Given the description of an element on the screen output the (x, y) to click on. 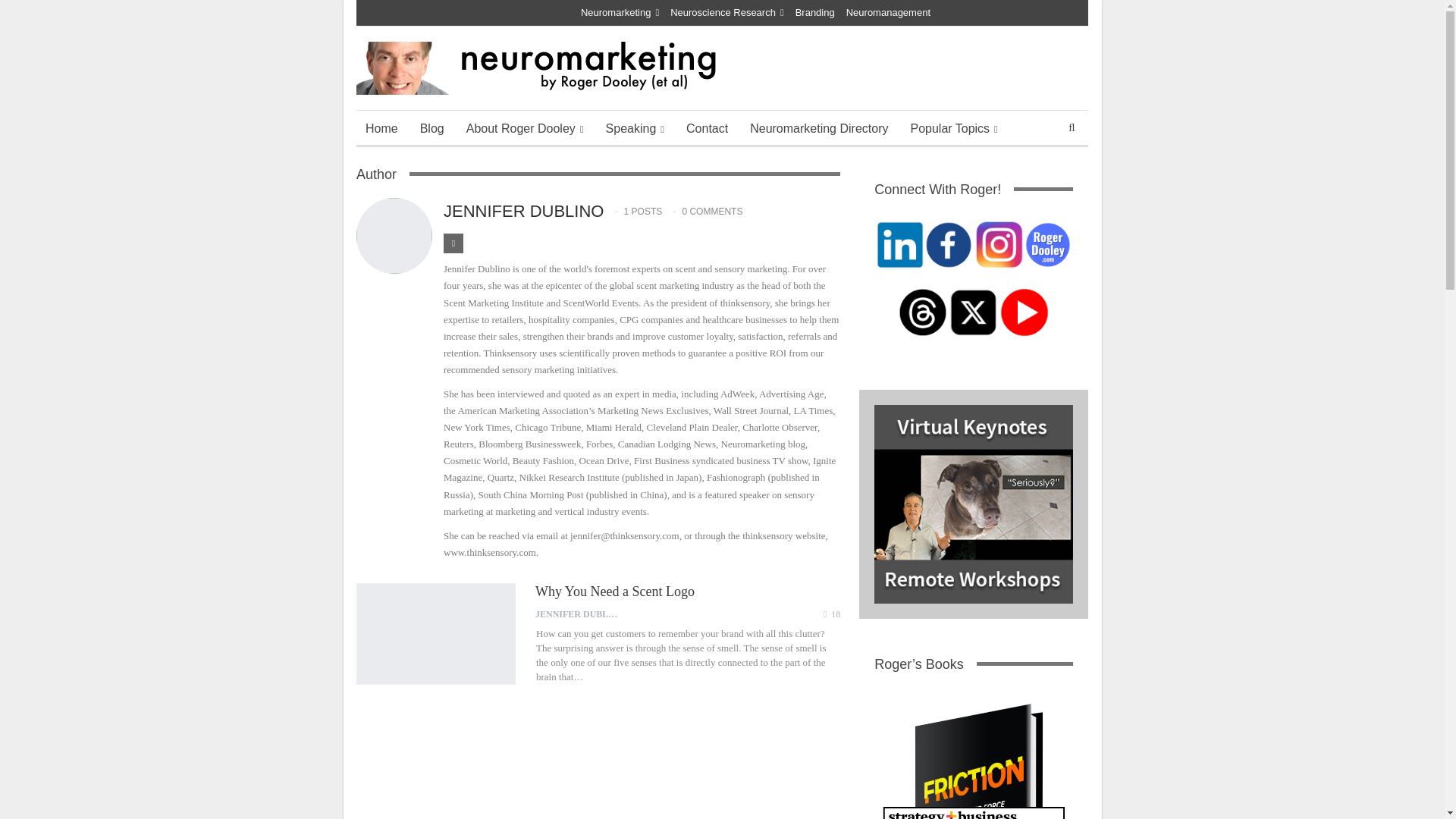
Neuroscience Research (726, 12)
Neuromarketing Directory (818, 128)
Neuromanagement (887, 12)
About Roger Dooley (524, 128)
Branding (814, 12)
Why You Need a Scent Logo (435, 633)
Speaking (634, 128)
Neuromarketing (619, 12)
Contact (706, 128)
Home (381, 128)
Browse Author Articles (579, 614)
Blog (431, 128)
Popular Topics (953, 128)
